Given the description of an element on the screen output the (x, y) to click on. 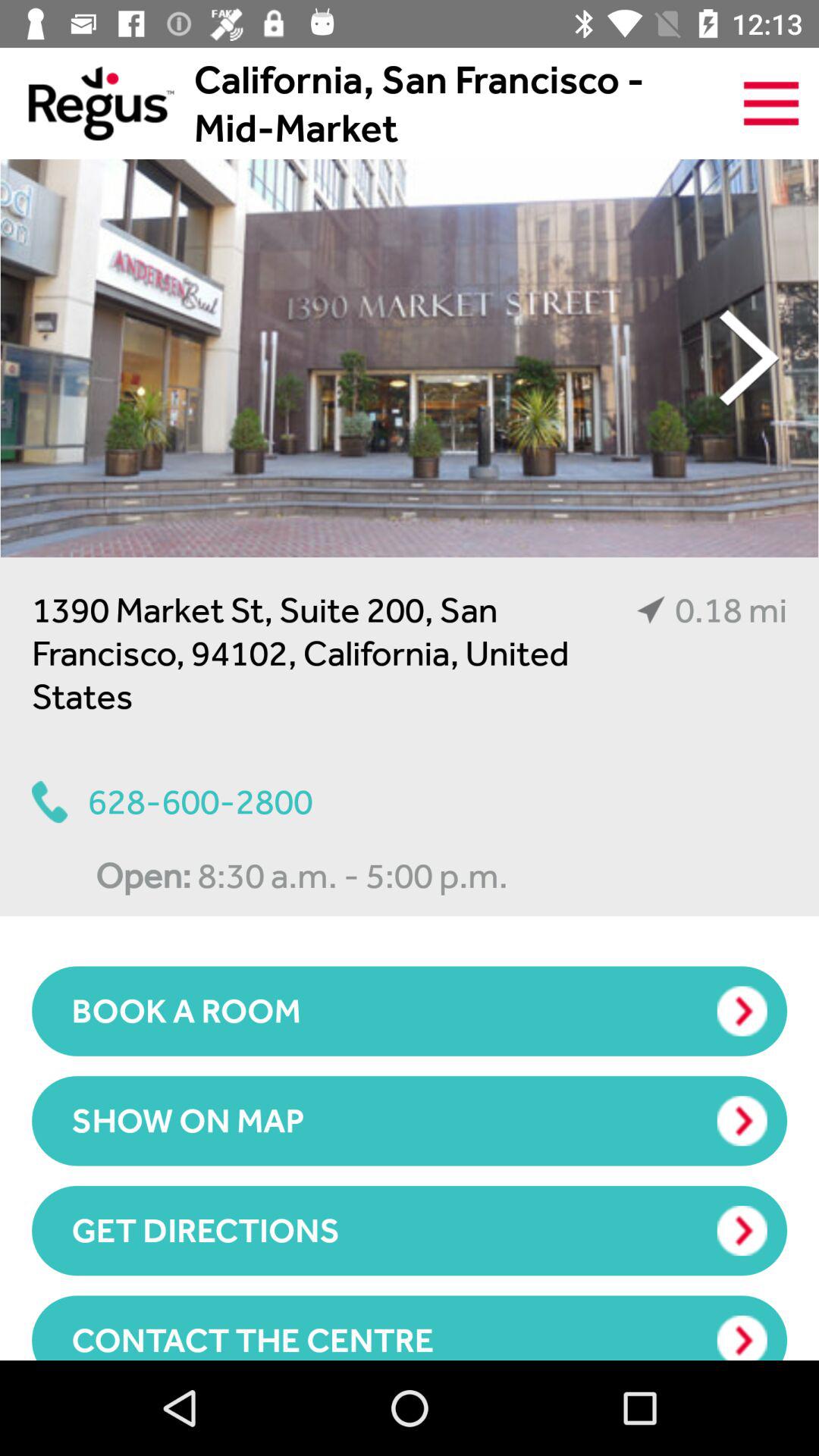
see right of the image (749, 358)
